Given the description of an element on the screen output the (x, y) to click on. 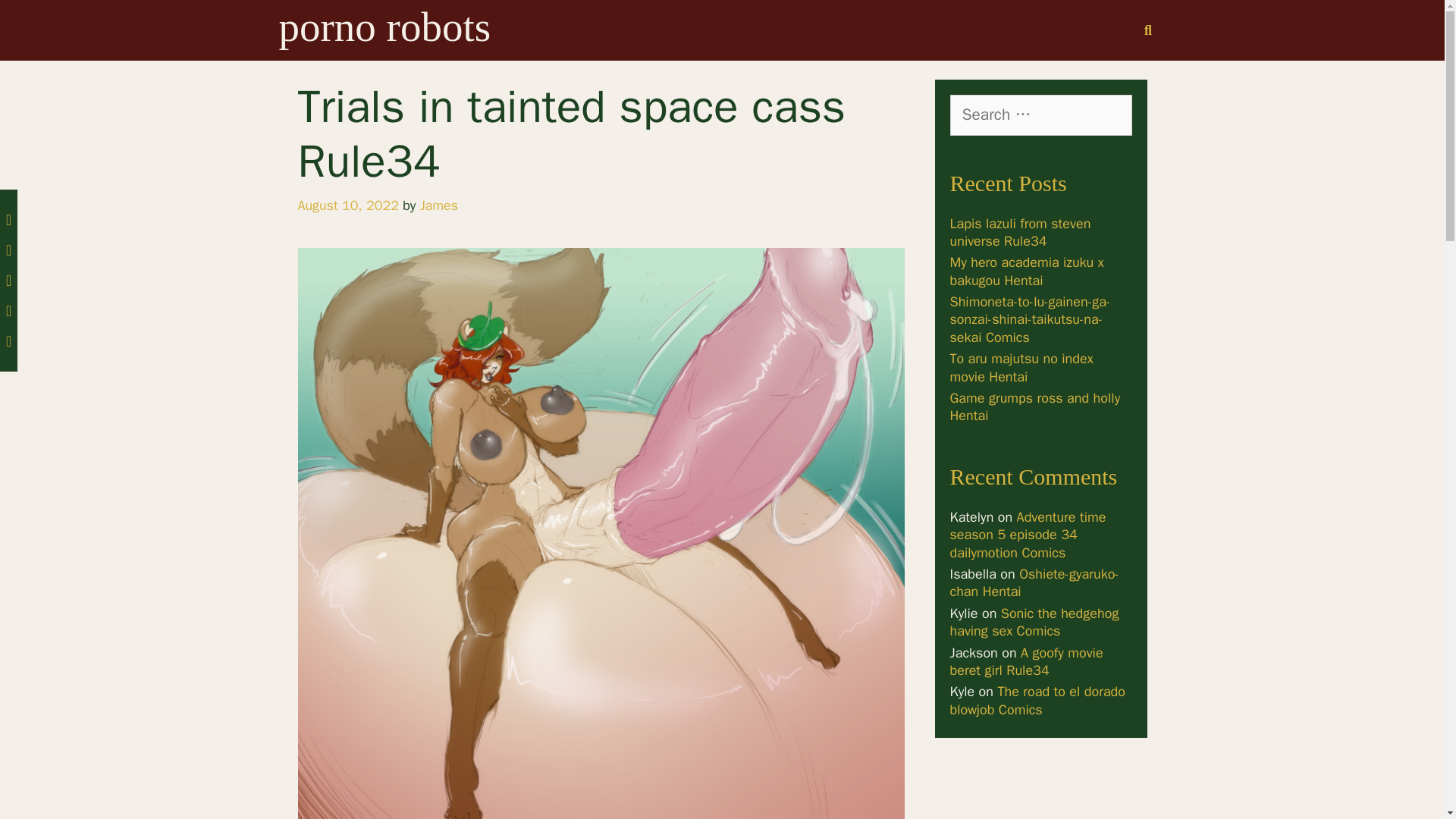
Oshiete-gyaruko-chan Hentai (1033, 582)
9:50 pm (347, 205)
The road to el dorado blowjob Comics (1037, 700)
Lapis lazuli from steven universe Rule34 (1019, 232)
James (439, 205)
View all posts by James (439, 205)
Search for: (1040, 115)
August 10, 2022 (347, 205)
Search (34, 18)
